Given the description of an element on the screen output the (x, y) to click on. 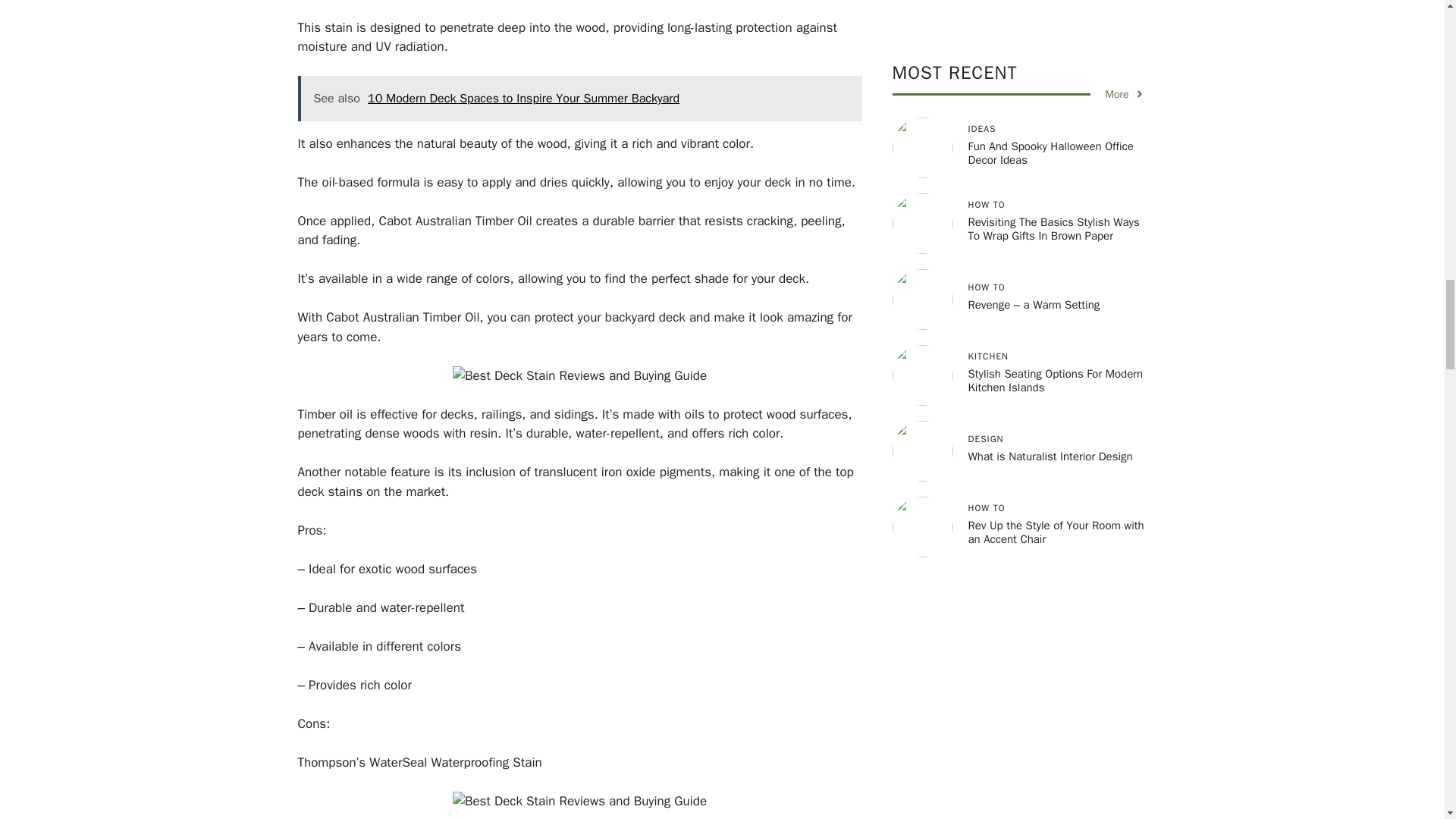
Best Deck Stain Reviews and Buying Guide (579, 801)
Best Deck Stain Reviews and Buying Guide (579, 375)
